Given the description of an element on the screen output the (x, y) to click on. 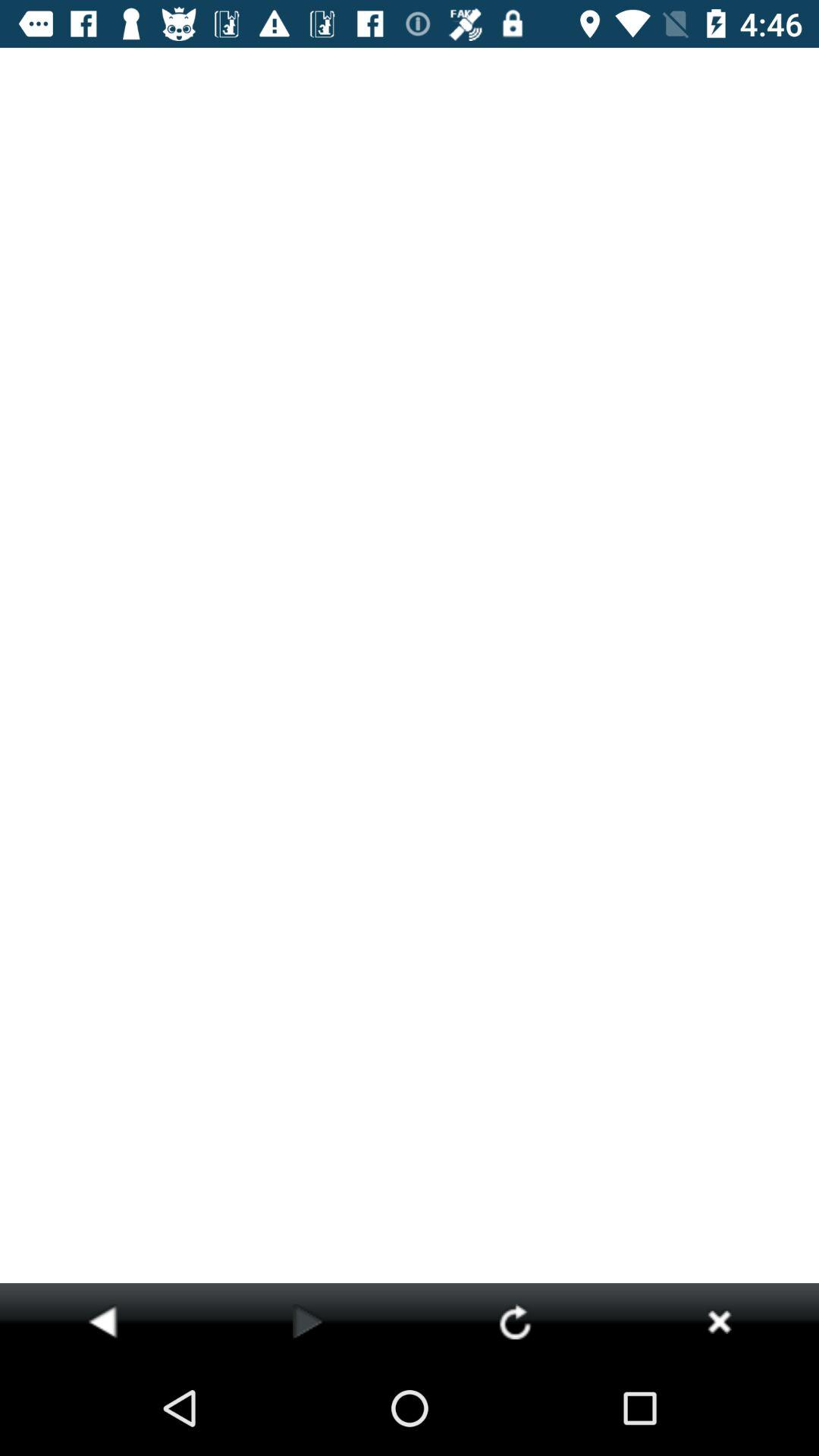
refresh page (514, 1321)
